Given the description of an element on the screen output the (x, y) to click on. 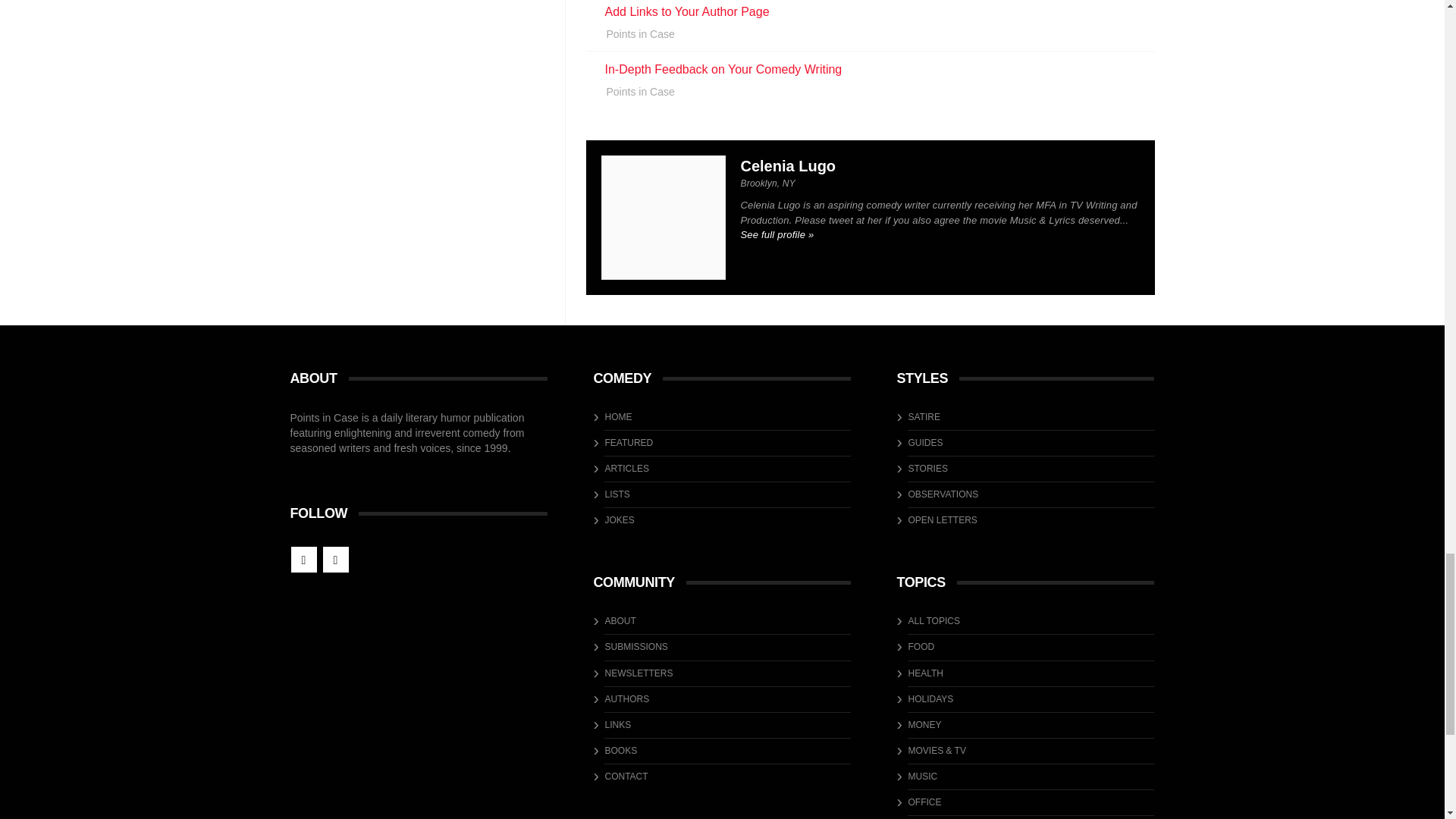
In-Depth Feedback on Your Comedy Writing (724, 69)
Celenia Lugo (787, 166)
Add Links to Your Author Page (687, 11)
Posts by Celenia Lugo (787, 166)
